Given the description of an element on the screen output the (x, y) to click on. 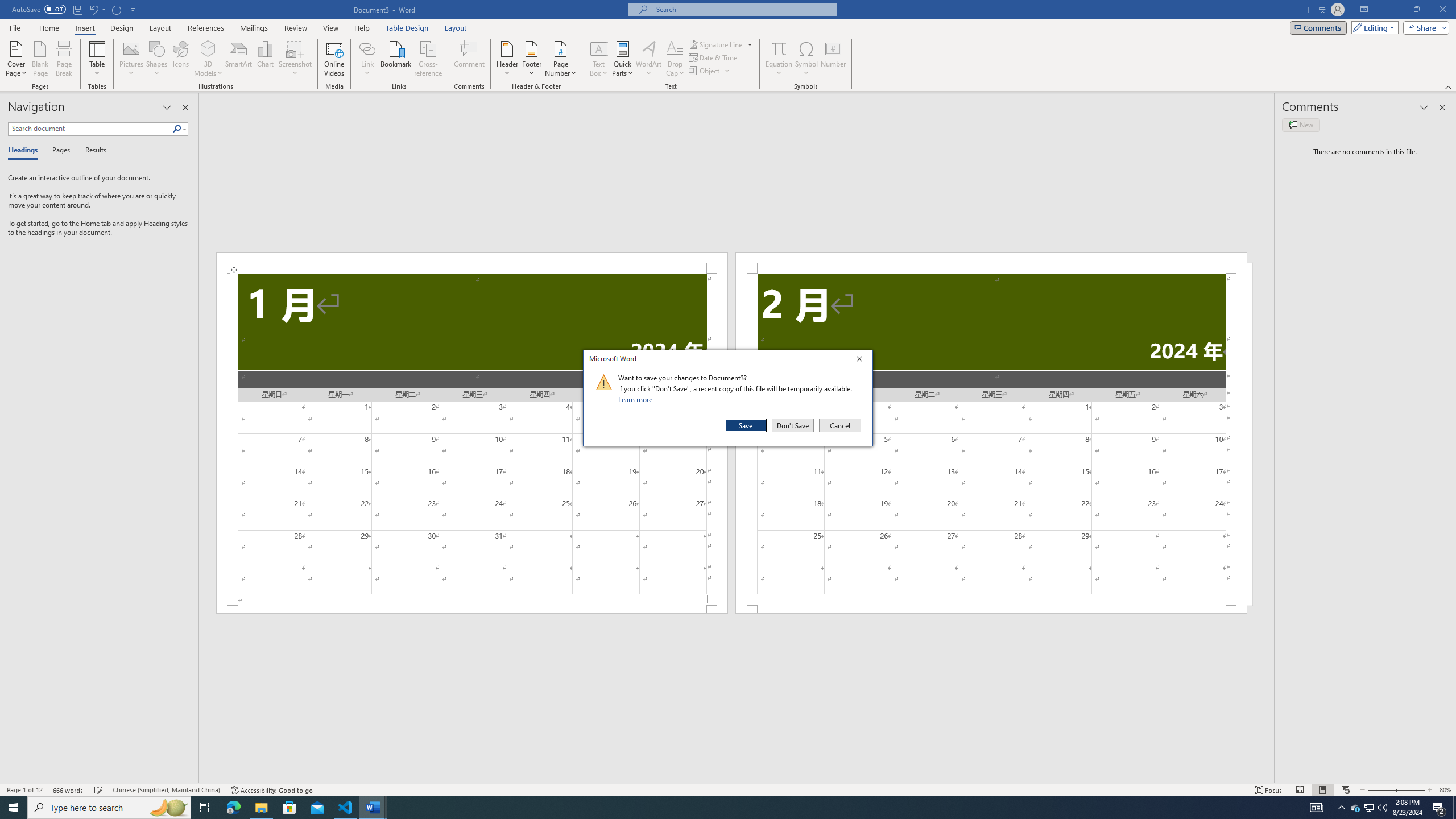
Focus  (1268, 790)
Link (367, 58)
Footer -Section 2- (991, 609)
Review (295, 28)
Pages (59, 150)
Page Break (63, 58)
Drop Cap (674, 58)
Cross-reference... (428, 58)
Page Number Page 1 of 12 (24, 790)
Header (507, 58)
Quick Parts (622, 58)
Word - 2 running windows (373, 807)
Task View (204, 807)
Signature Line (716, 44)
